Given the description of an element on the screen output the (x, y) to click on. 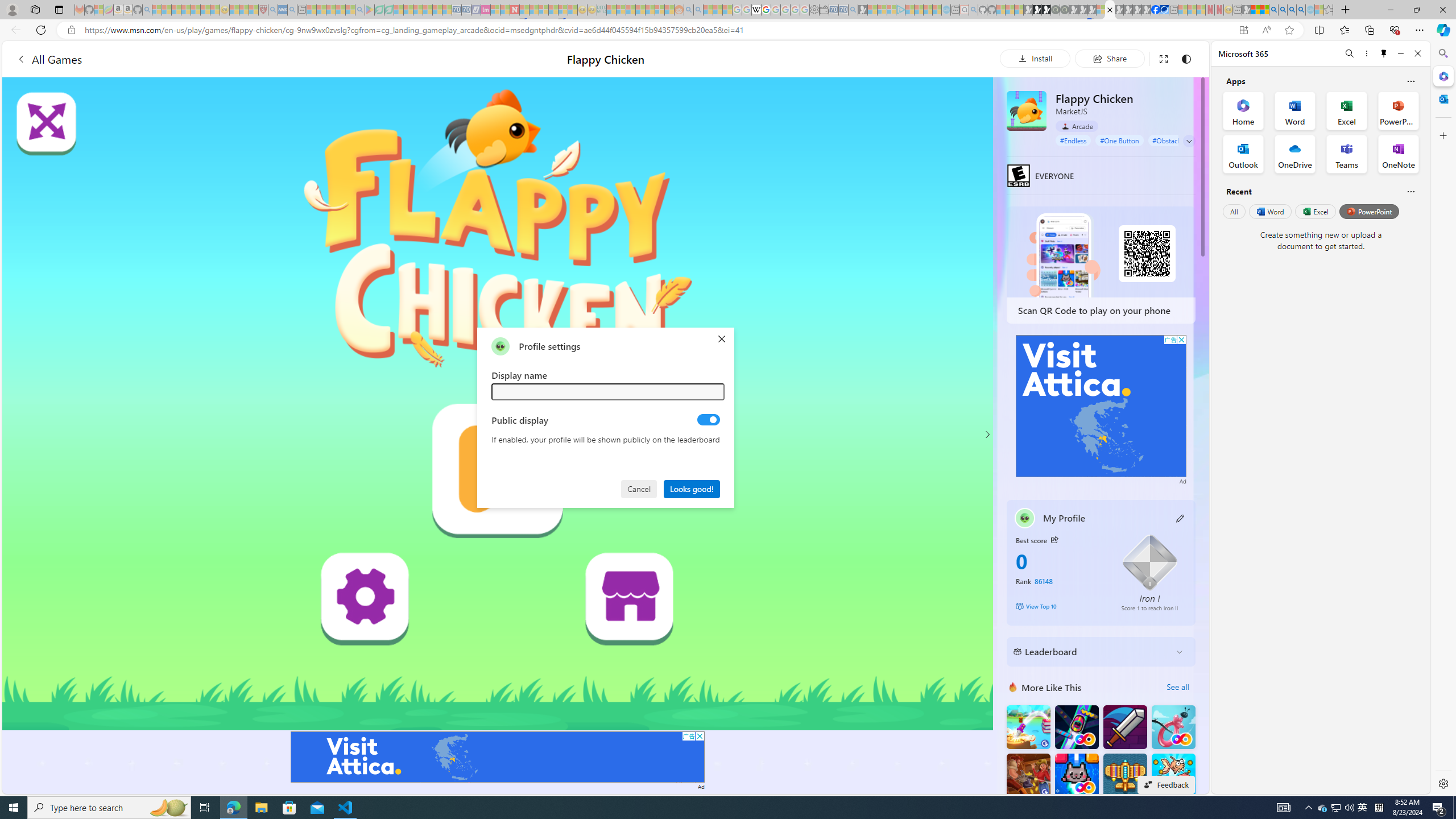
Kitten Force FRVR (1076, 775)
Play Zoo Boom in your browser | Games from Microsoft Start (1036, 9)
Word (1269, 210)
